Given the description of an element on the screen output the (x, y) to click on. 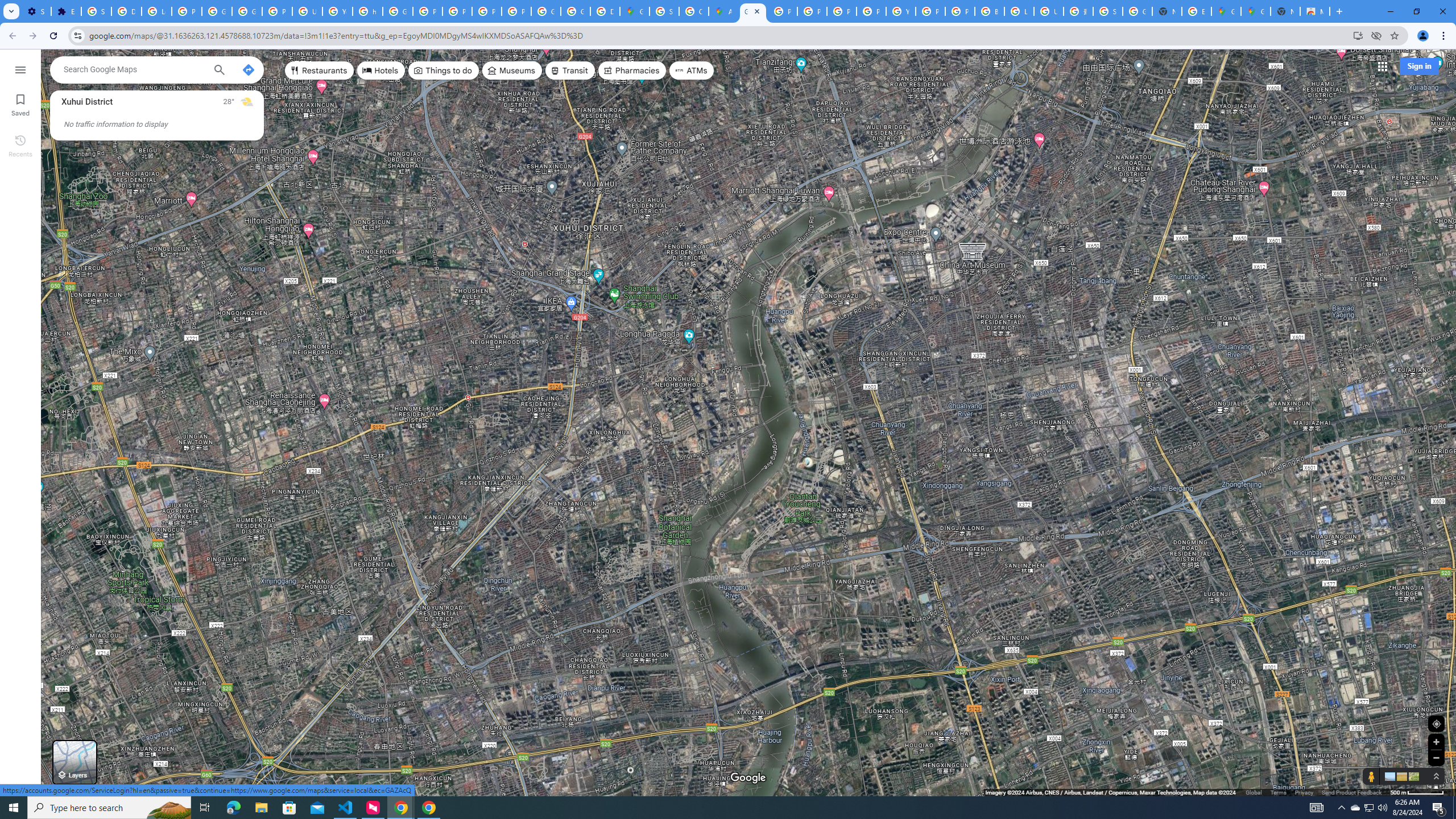
Extensions (65, 11)
Google Account Help (247, 11)
Google Maps (634, 11)
Google Maps (1255, 11)
Policy Accountability and Transparency - Transparency Center (782, 11)
Museums (511, 70)
Google Maps (753, 11)
Directions (247, 69)
ATMs (691, 70)
Settings - On startup (36, 11)
